Given the description of an element on the screen output the (x, y) to click on. 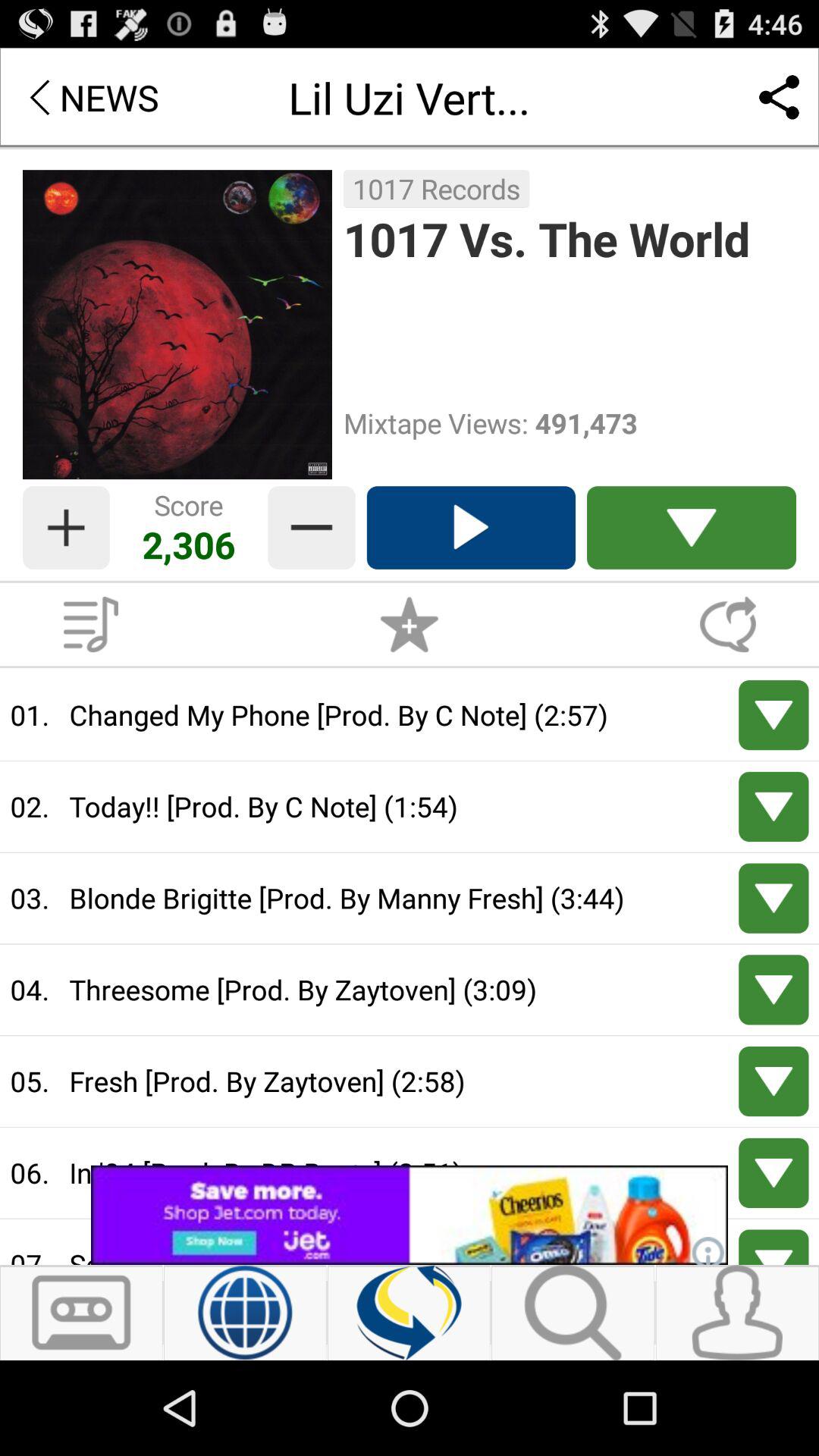
favorite (409, 624)
